Given the description of an element on the screen output the (x, y) to click on. 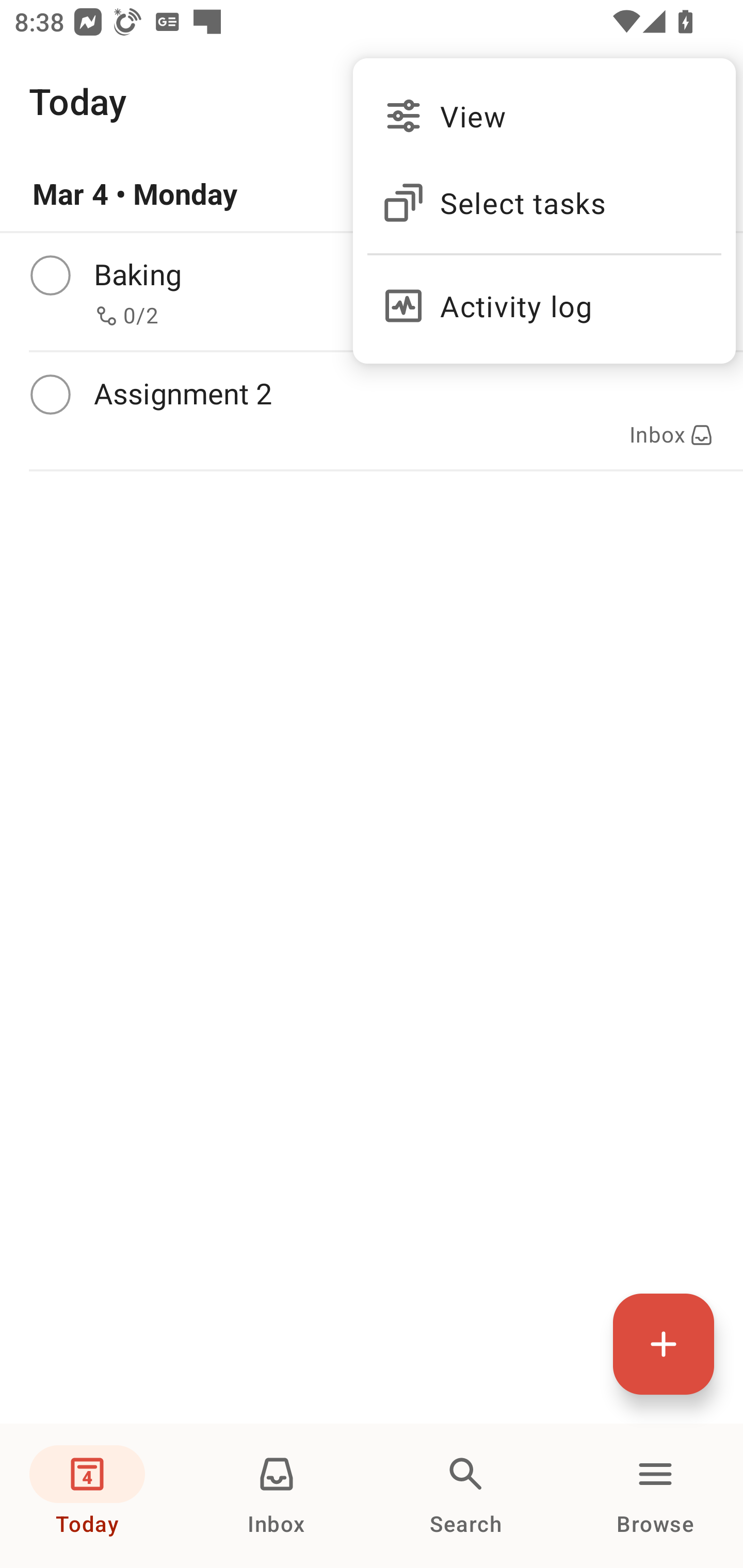
View (544, 115)
Select tasks (544, 202)
Activity log (544, 297)
